Given the description of an element on the screen output the (x, y) to click on. 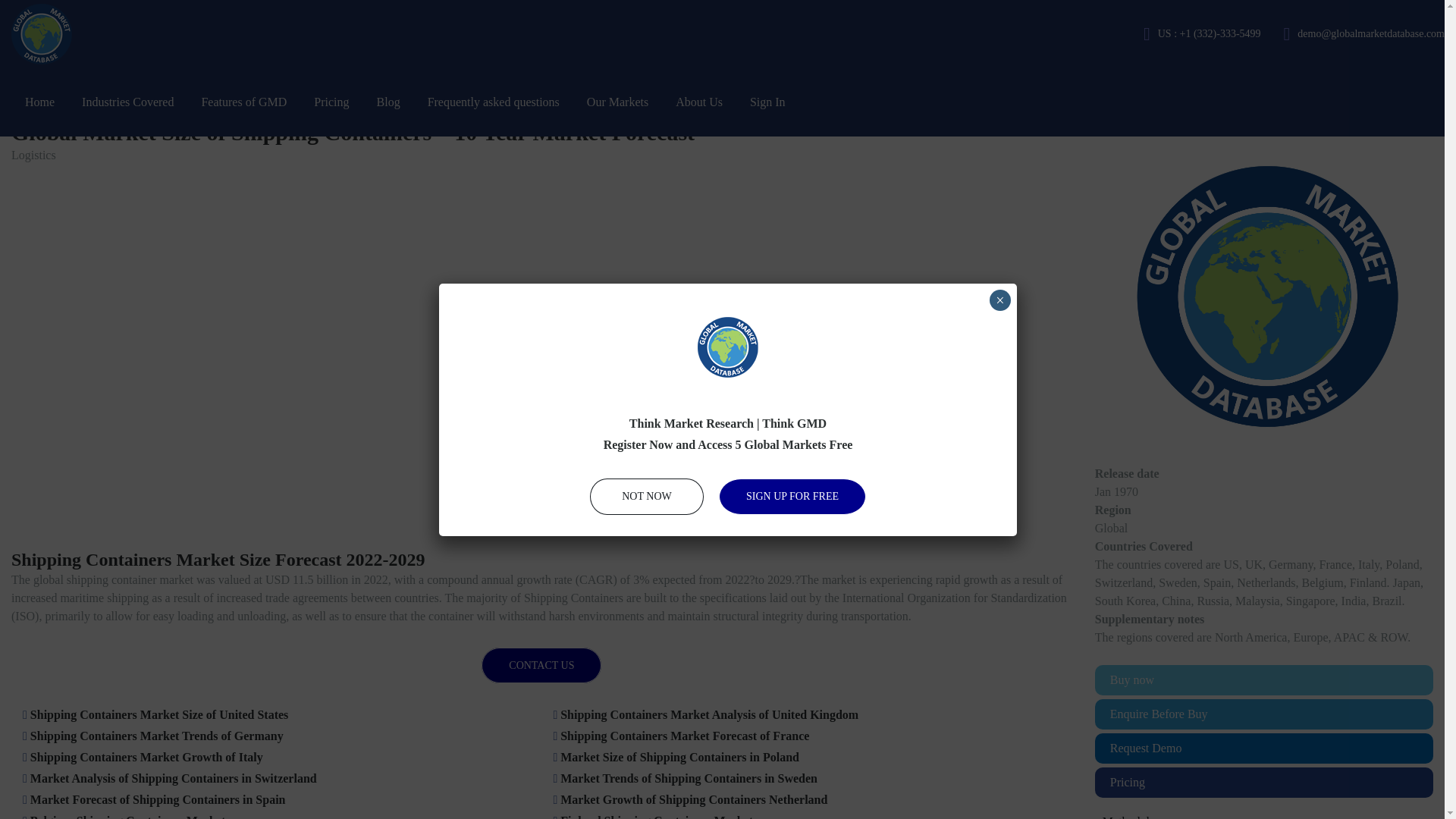
Pricing (1263, 782)
Industries Covered (127, 102)
Sign In (767, 102)
Enquire Before Buy (1263, 714)
About Us (698, 102)
Methodology (1263, 816)
Request Demo (1263, 748)
Home (39, 102)
CONTACT US (541, 665)
Pricing (331, 102)
Blog (388, 102)
Features of GMD (242, 102)
Buy now (1263, 680)
Frequently asked questions (493, 102)
Our Markets (617, 102)
